Given the description of an element on the screen output the (x, y) to click on. 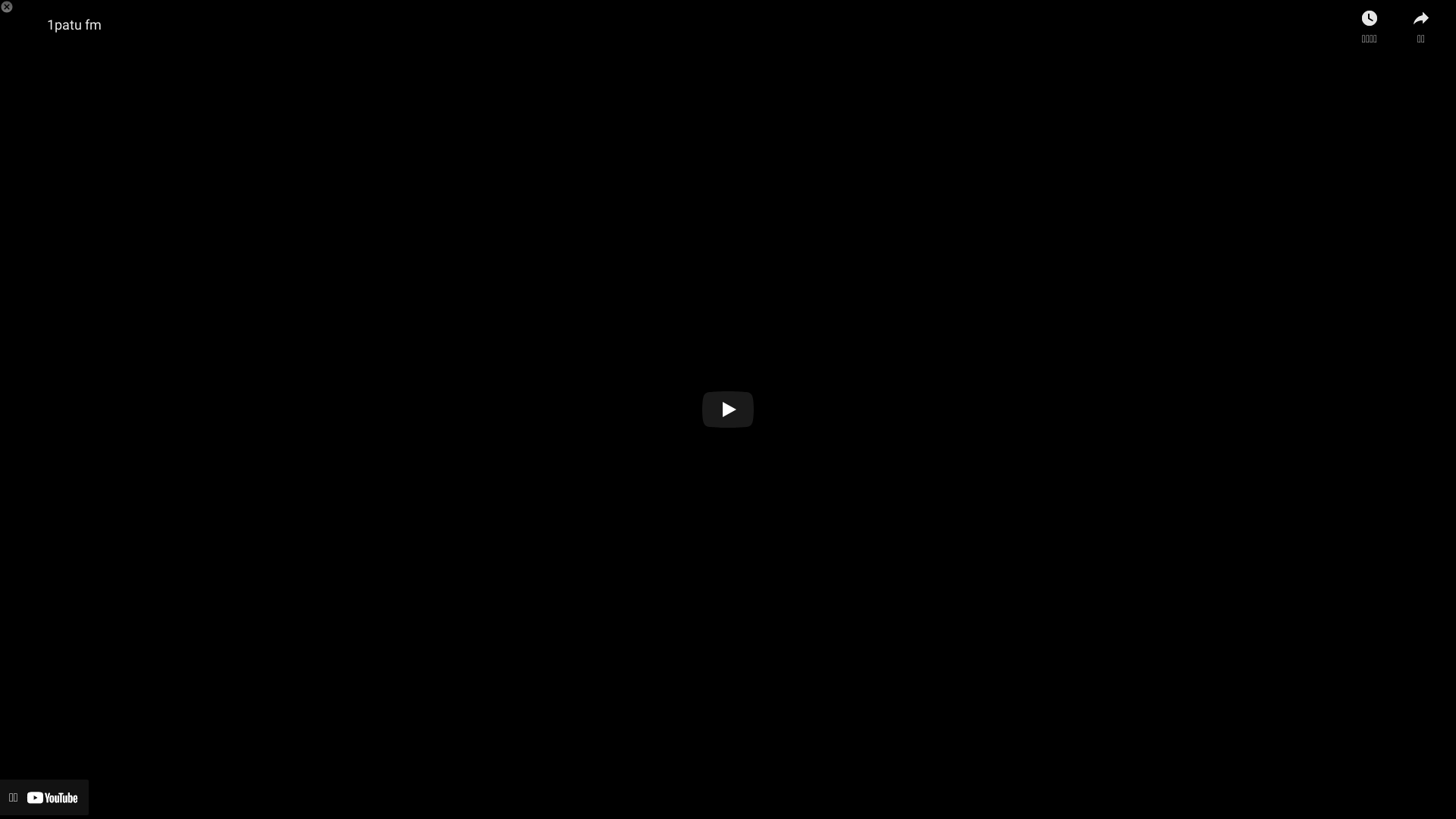
1patu fm Element type: text (74, 24)
